Given the description of an element on the screen output the (x, y) to click on. 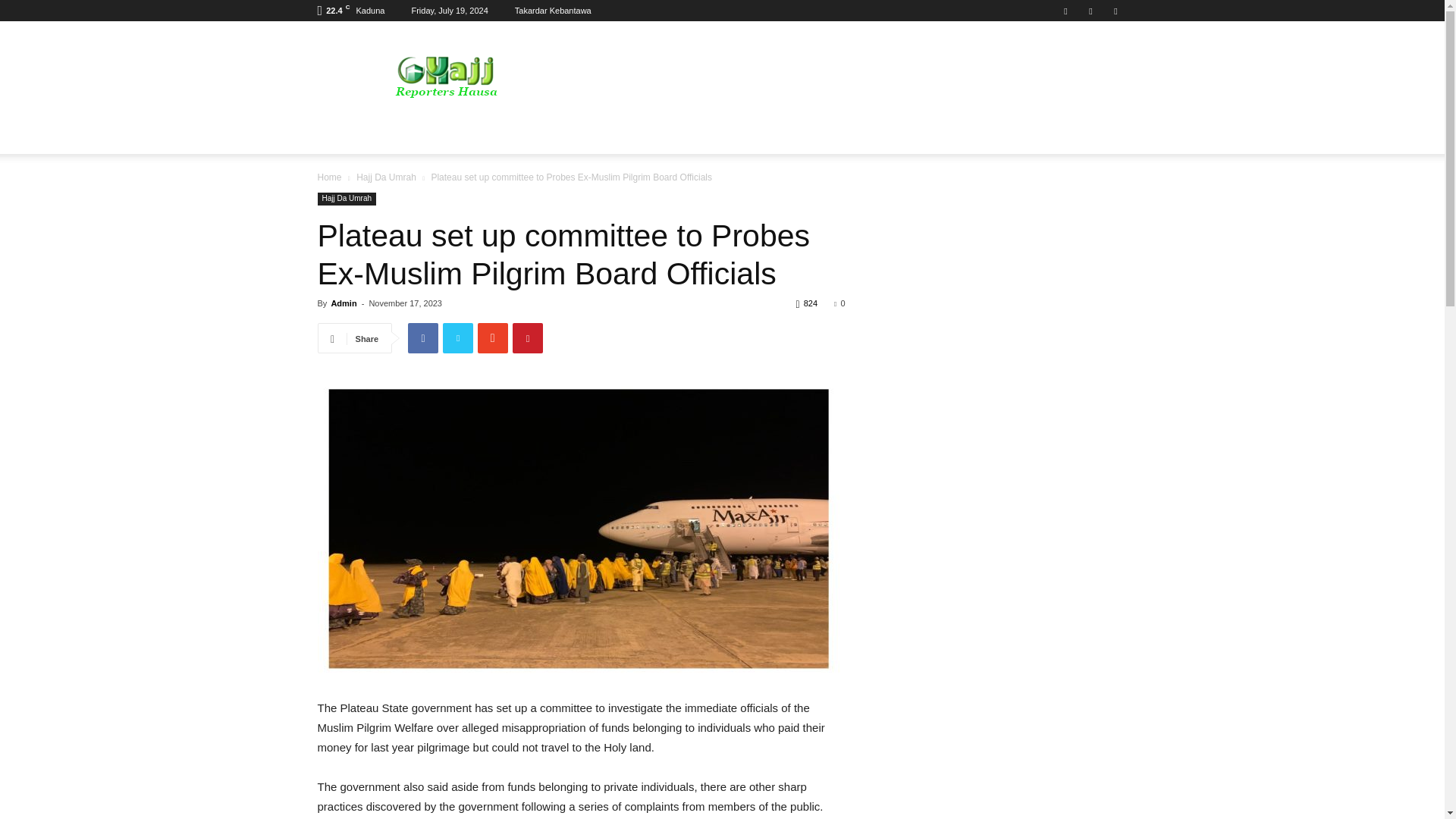
FASAHA (477, 135)
GIDA (341, 135)
Facebook (1065, 10)
Twitter (1090, 10)
Youtube (1114, 10)
Takardar Kebantawa (553, 10)
DUNIYA (402, 135)
